Given the description of an element on the screen output the (x, y) to click on. 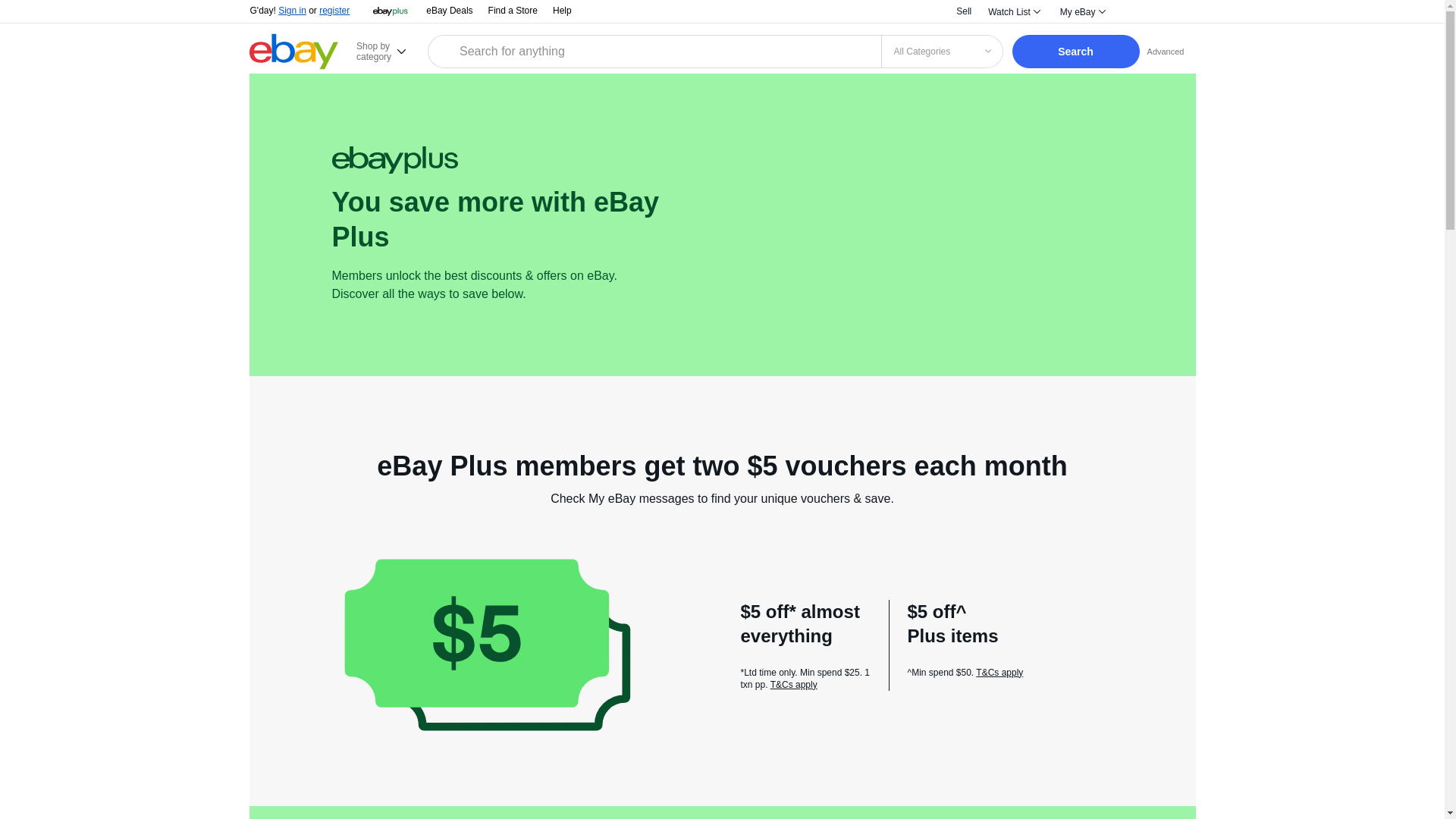
register (333, 9)
Sign in (291, 9)
Search (1075, 51)
Watch List (1012, 12)
Notifications (1136, 11)
eBay Deals (448, 11)
Find a Store (512, 11)
Help (562, 9)
Search (1075, 51)
My eBay (1081, 12)
Watch List (1012, 12)
Advanced search (1166, 51)
Advanced (1166, 51)
Shop by category (390, 51)
Sell (963, 10)
